Given the description of an element on the screen output the (x, y) to click on. 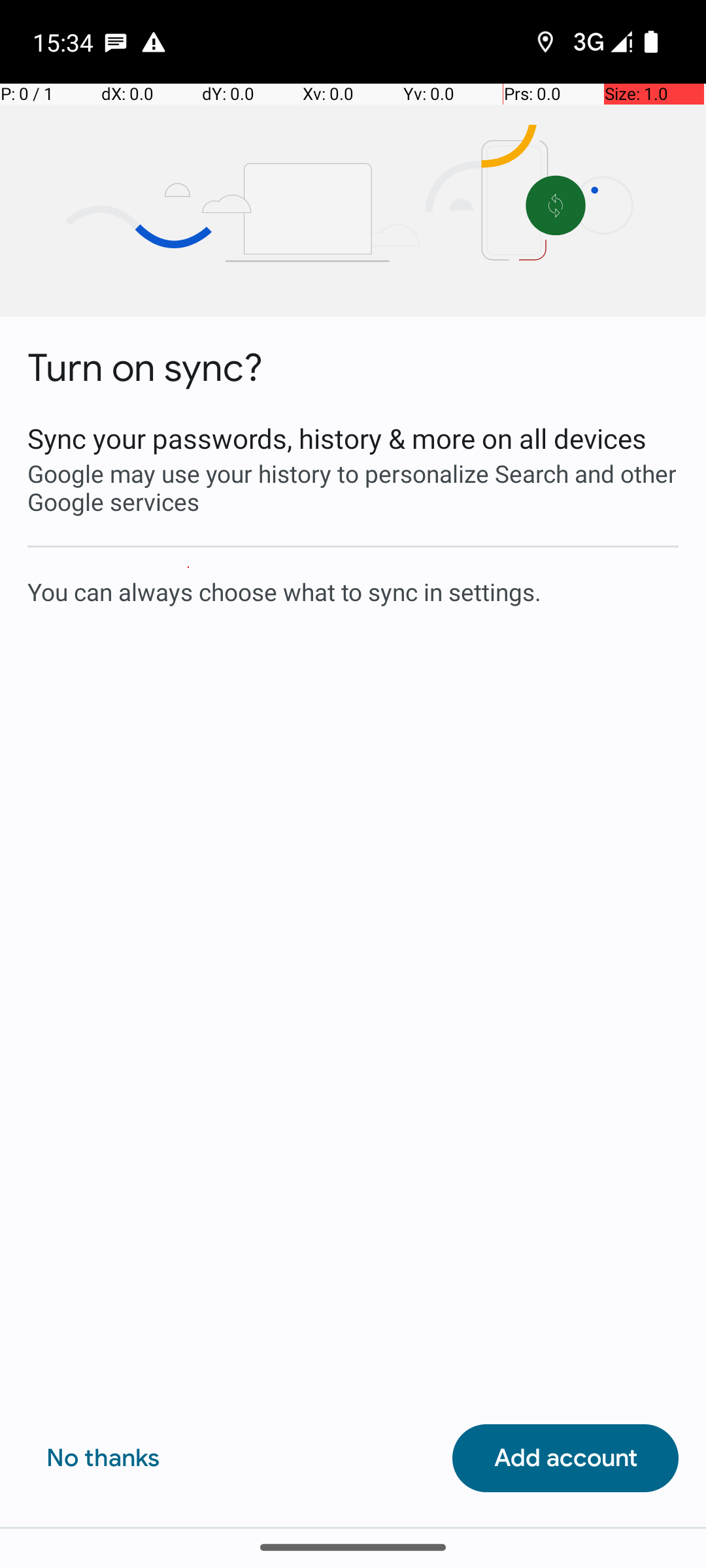
No thanks Element type: android.widget.Button (102, 1458)
Add account Element type: android.widget.Button (565, 1458)
Turn on sync? Element type: android.widget.TextView (144, 368)
Sync your passwords, history & more on all devices Element type: android.widget.TextView (352, 437)
Google may use your history to personalize Search and other Google services Element type: android.widget.TextView (352, 487)
You can always choose what to sync in settings. Element type: android.widget.TextView (352, 591)
